Given the description of an element on the screen output the (x, y) to click on. 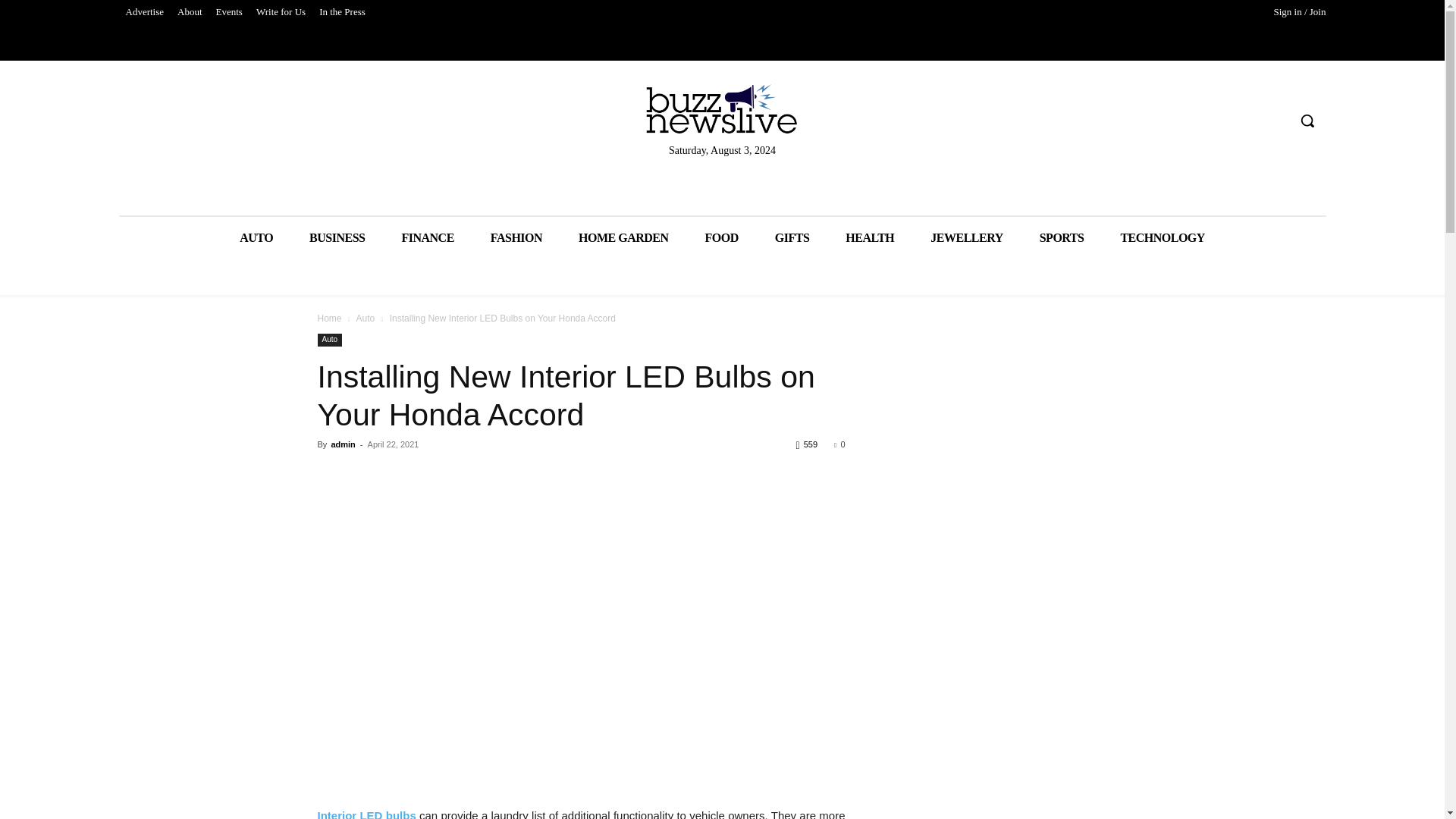
FINANCE (426, 237)
BUSINESS (336, 237)
FASHION (515, 237)
HOME GARDEN (623, 237)
About (189, 12)
HEALTH (869, 237)
GIFTS (792, 237)
Events (228, 12)
FOOD (722, 237)
View all posts in Auto (364, 317)
AUTO (256, 237)
In the Press (342, 12)
Advertise (143, 12)
Write for Us (280, 12)
JEWELLERY (966, 237)
